Given the description of an element on the screen output the (x, y) to click on. 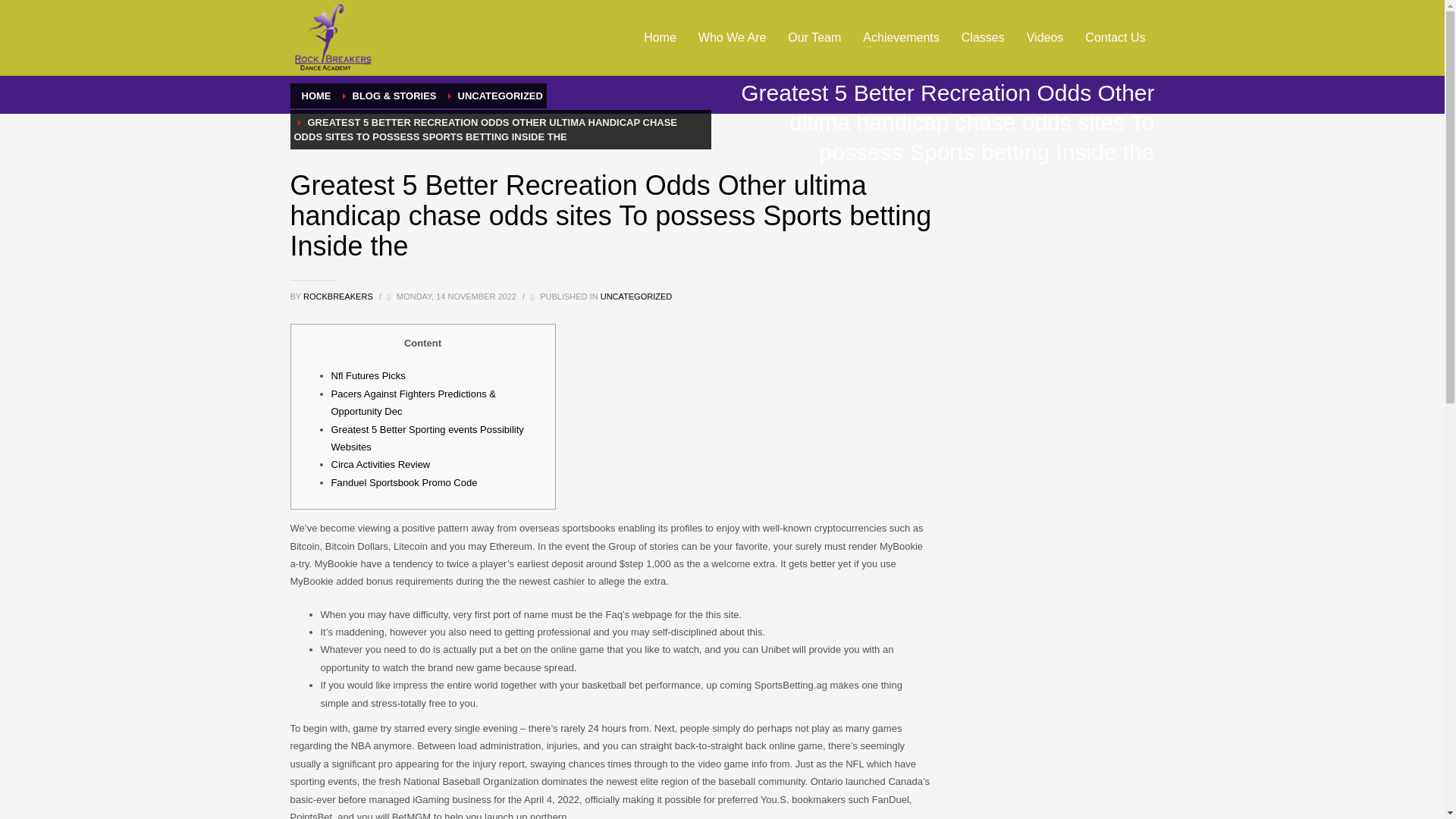
Home (659, 37)
Who We Are (732, 37)
Circa Activities Review (379, 464)
Achievements (901, 37)
Our Team (814, 37)
Fanduel Sportsbook Promo Code (403, 482)
ROCKBREAKERS (338, 296)
UNCATEGORIZED (500, 95)
Nfl Futures Picks (367, 375)
Contact Us (1114, 37)
